Given the description of an element on the screen output the (x, y) to click on. 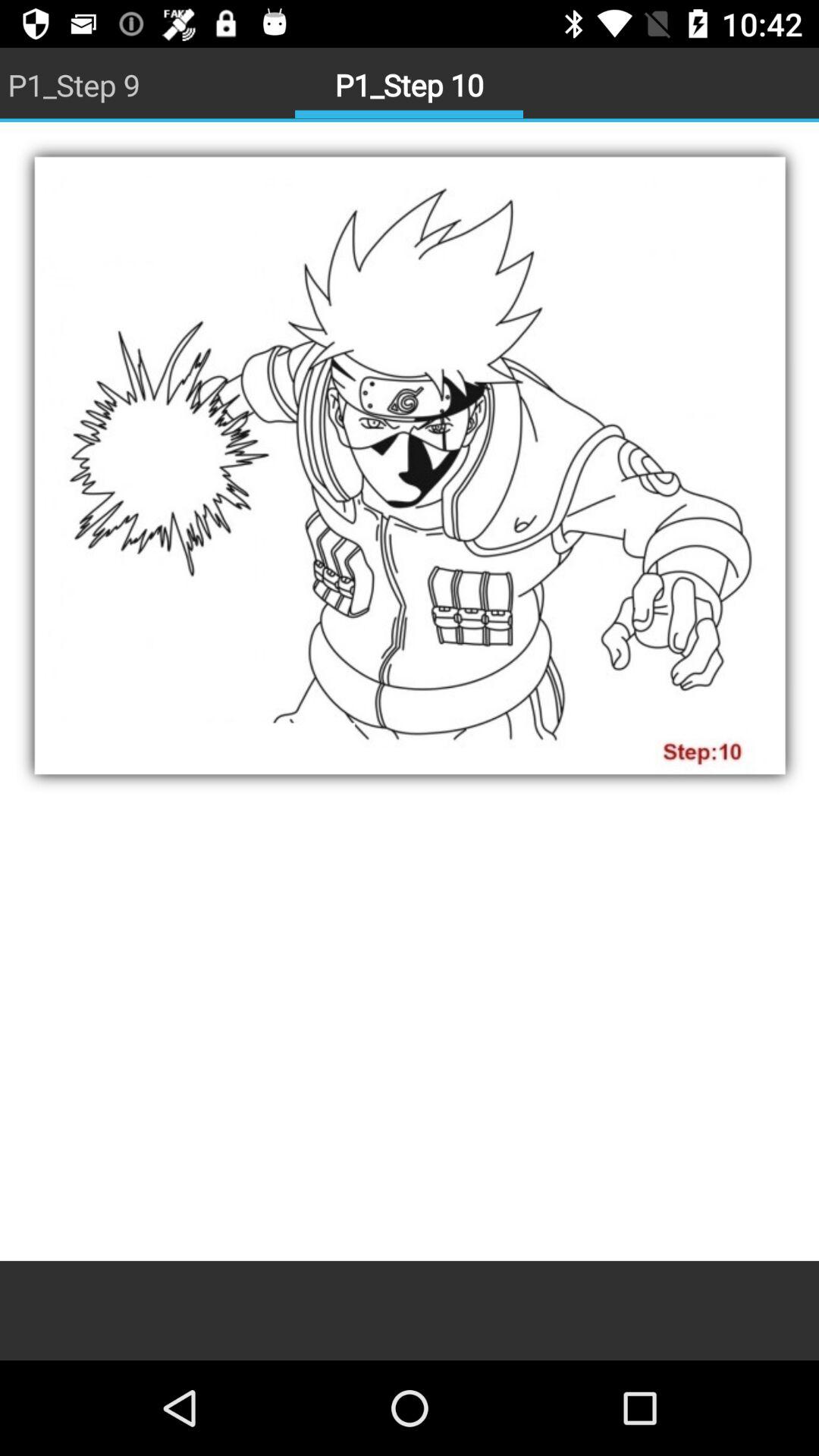
save screen (409, 691)
